Given the description of an element on the screen output the (x, y) to click on. 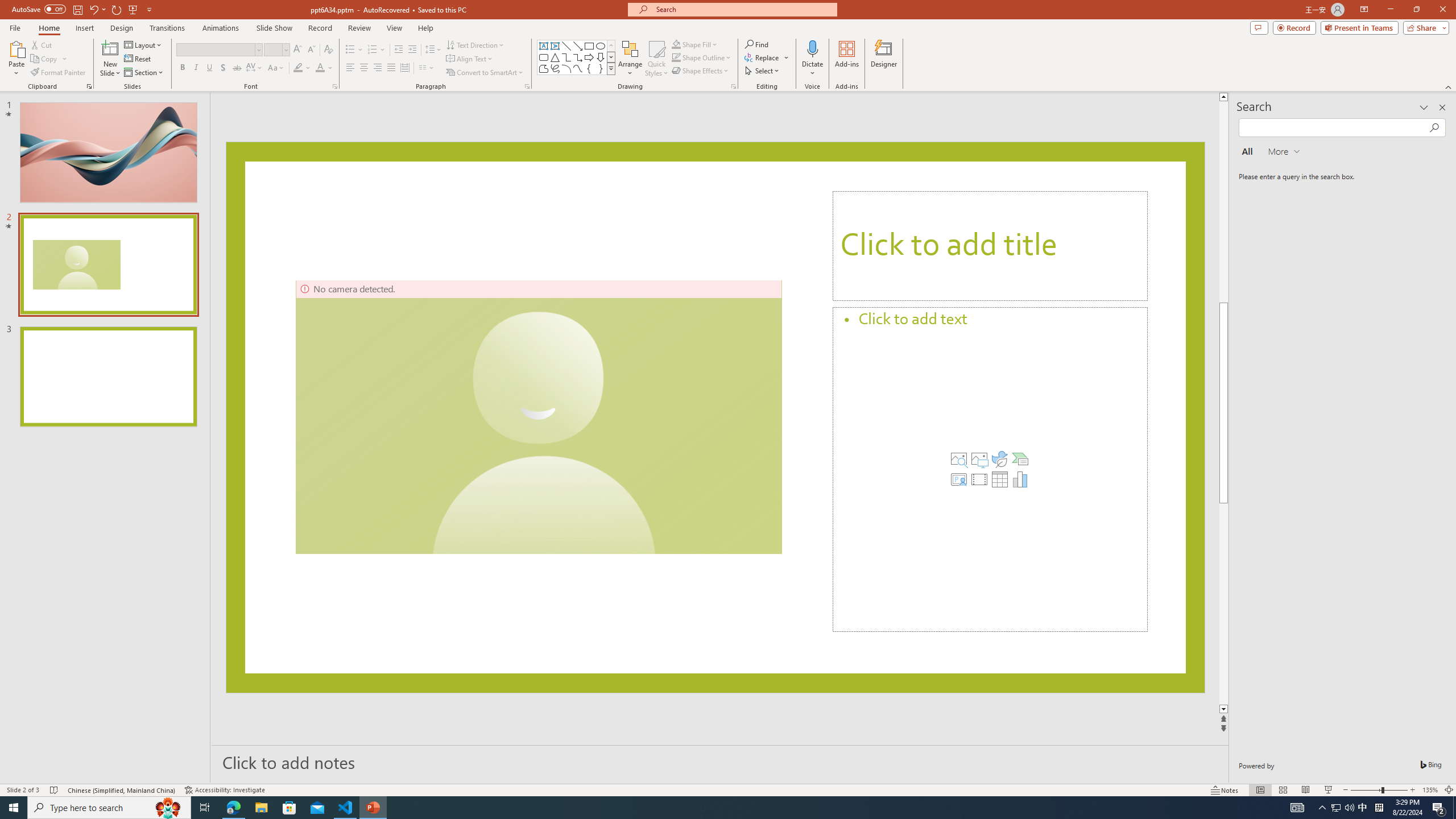
Layout (143, 44)
Font Size (276, 49)
Columns (426, 67)
Insert Cameo (958, 479)
Text Direction (476, 44)
Font Size (273, 49)
Shadow (223, 67)
Dictate (812, 58)
Review (359, 28)
Bold (182, 67)
Pictures (978, 458)
Task Pane Options (1423, 107)
Zoom Out (1366, 790)
Arrow: Right (589, 57)
